Given the description of an element on the screen output the (x, y) to click on. 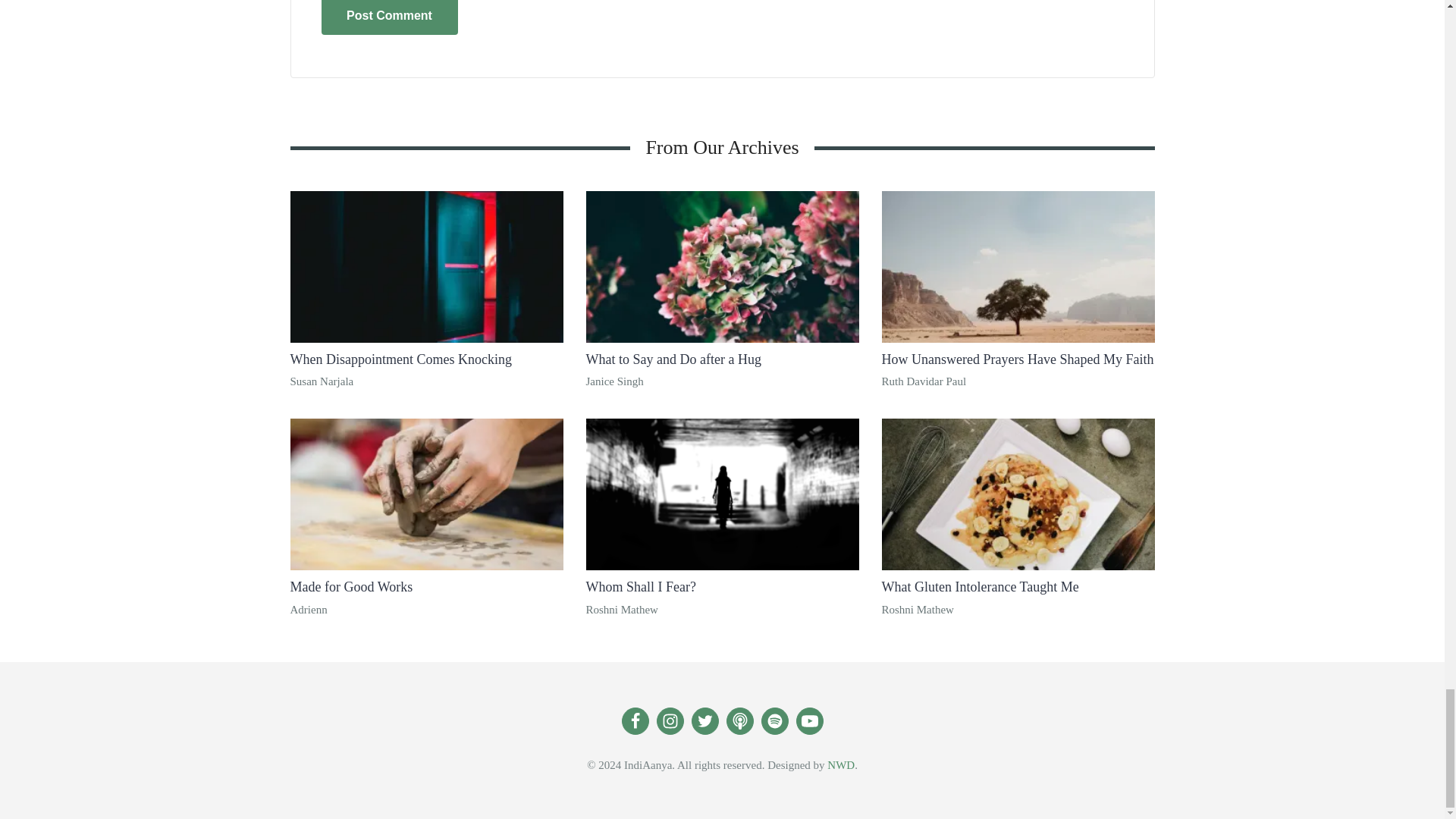
Post Comment (389, 17)
